Given the description of an element on the screen output the (x, y) to click on. 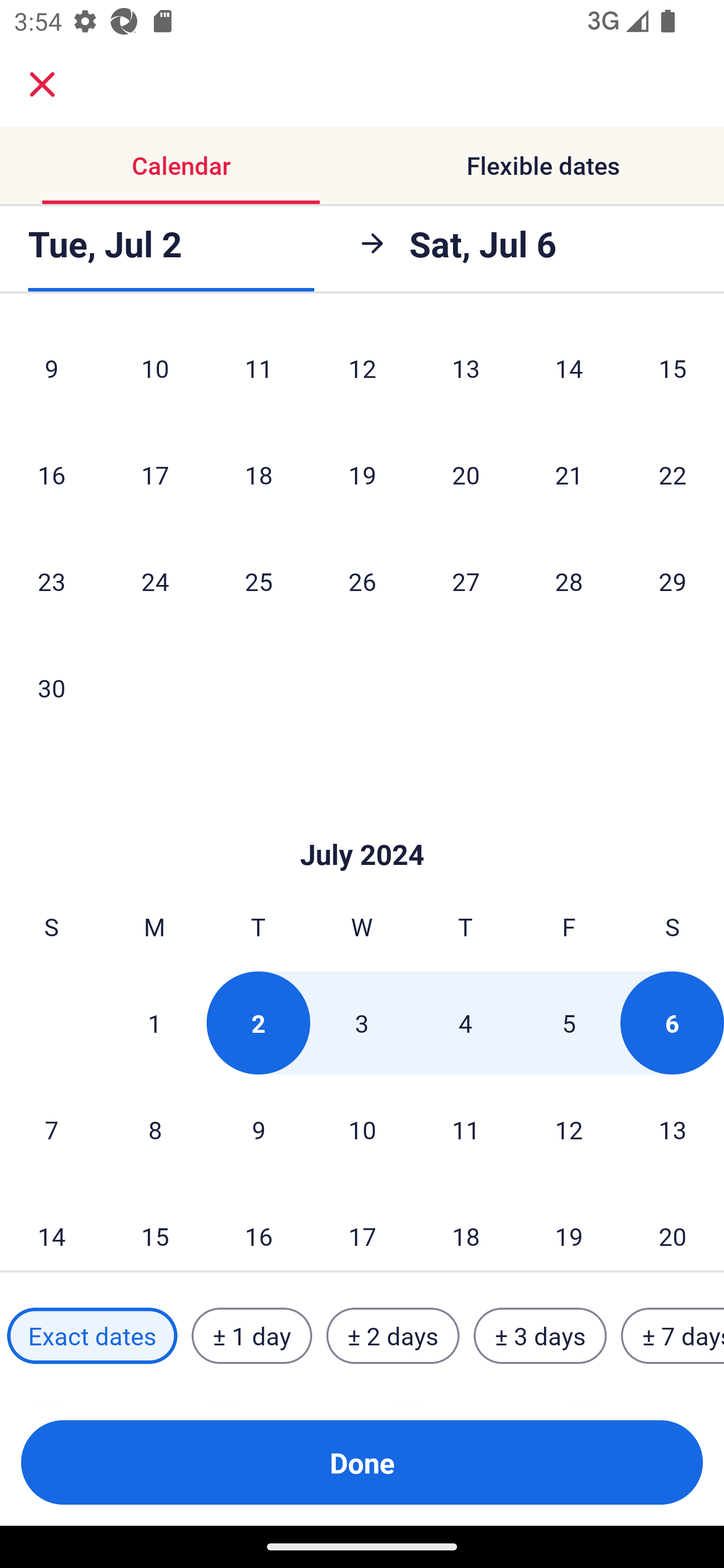
close. (42, 84)
Flexible dates (542, 164)
9 Sunday, June 9, 2024 (51, 370)
10 Monday, June 10, 2024 (155, 370)
11 Tuesday, June 11, 2024 (258, 370)
12 Wednesday, June 12, 2024 (362, 370)
13 Thursday, June 13, 2024 (465, 370)
14 Friday, June 14, 2024 (569, 370)
15 Saturday, June 15, 2024 (672, 370)
16 Sunday, June 16, 2024 (51, 474)
17 Monday, June 17, 2024 (155, 474)
18 Tuesday, June 18, 2024 (258, 474)
19 Wednesday, June 19, 2024 (362, 474)
20 Thursday, June 20, 2024 (465, 474)
21 Friday, June 21, 2024 (569, 474)
22 Saturday, June 22, 2024 (672, 474)
23 Sunday, June 23, 2024 (51, 581)
24 Monday, June 24, 2024 (155, 581)
25 Tuesday, June 25, 2024 (258, 581)
26 Wednesday, June 26, 2024 (362, 581)
27 Thursday, June 27, 2024 (465, 581)
28 Friday, June 28, 2024 (569, 581)
29 Saturday, June 29, 2024 (672, 581)
30 Sunday, June 30, 2024 (51, 687)
Skip to Done (362, 824)
1 Monday, July 1, 2024 (154, 1023)
7 Sunday, July 7, 2024 (51, 1129)
8 Monday, July 8, 2024 (155, 1129)
9 Tuesday, July 9, 2024 (258, 1129)
10 Wednesday, July 10, 2024 (362, 1129)
11 Thursday, July 11, 2024 (465, 1129)
12 Friday, July 12, 2024 (569, 1129)
13 Saturday, July 13, 2024 (672, 1129)
14 Sunday, July 14, 2024 (51, 1226)
15 Monday, July 15, 2024 (155, 1226)
16 Tuesday, July 16, 2024 (258, 1226)
17 Wednesday, July 17, 2024 (362, 1226)
18 Thursday, July 18, 2024 (465, 1226)
19 Friday, July 19, 2024 (569, 1226)
20 Saturday, July 20, 2024 (672, 1226)
Exact dates (92, 1335)
± 1 day (251, 1335)
± 2 days (392, 1335)
± 3 days (539, 1335)
± 7 days (672, 1335)
Done (361, 1462)
